Given the description of an element on the screen output the (x, y) to click on. 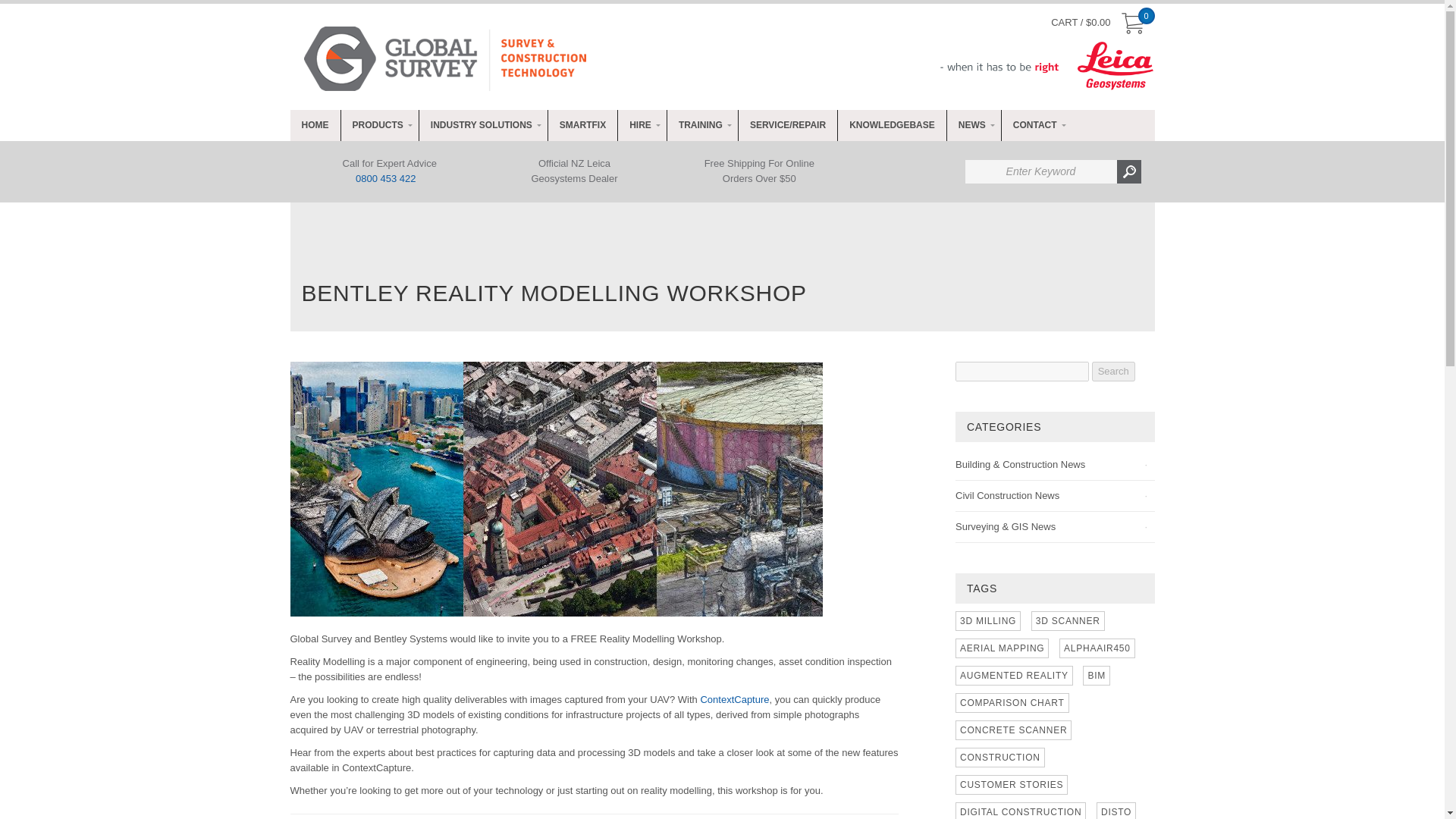
Search (1113, 371)
PRODUCTS (378, 124)
HOME (314, 124)
